Given the description of an element on the screen output the (x, y) to click on. 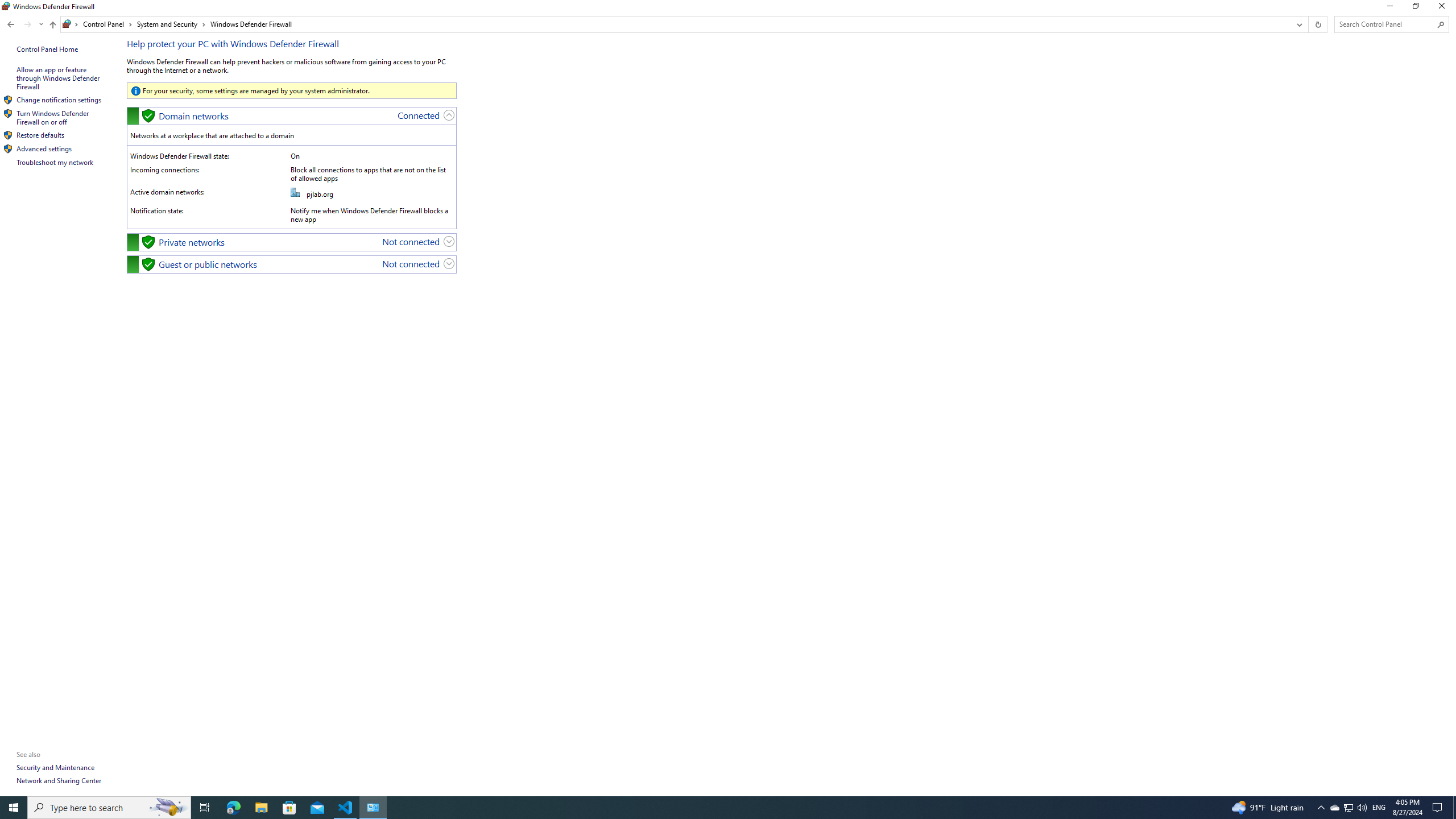
Search Box (1386, 23)
Back to System and Security (Alt + Left Arrow) (10, 23)
Restore (1415, 8)
Control Panel (107, 23)
Windows Defender Firewall (251, 23)
Minimize (1388, 8)
Up band toolbar (52, 26)
Troubleshoot my network (55, 162)
Up to "System and Security" (Alt + Up Arrow) (52, 24)
Address band toolbar (1308, 23)
